Given the description of an element on the screen output the (x, y) to click on. 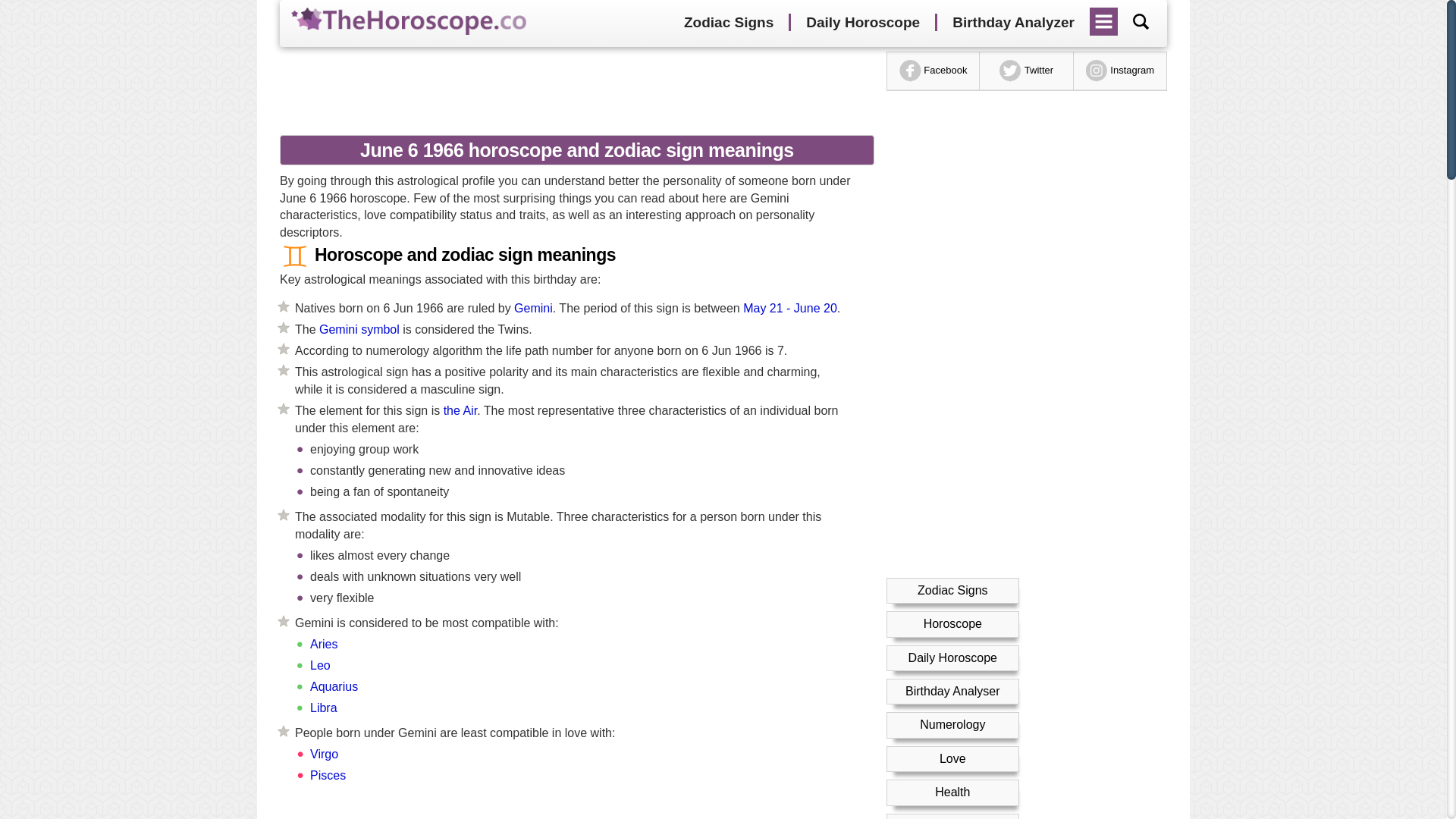
Daily Horoscope (952, 657)
Love (952, 758)
Birthday Analyzer (1013, 22)
Birthday Analyser (952, 690)
Menu (1104, 16)
Search by your birthday... (1140, 21)
Advertisement (571, 88)
Health (952, 791)
Numerology (952, 724)
Zodiac Signs (952, 590)
